Given the description of an element on the screen output the (x, y) to click on. 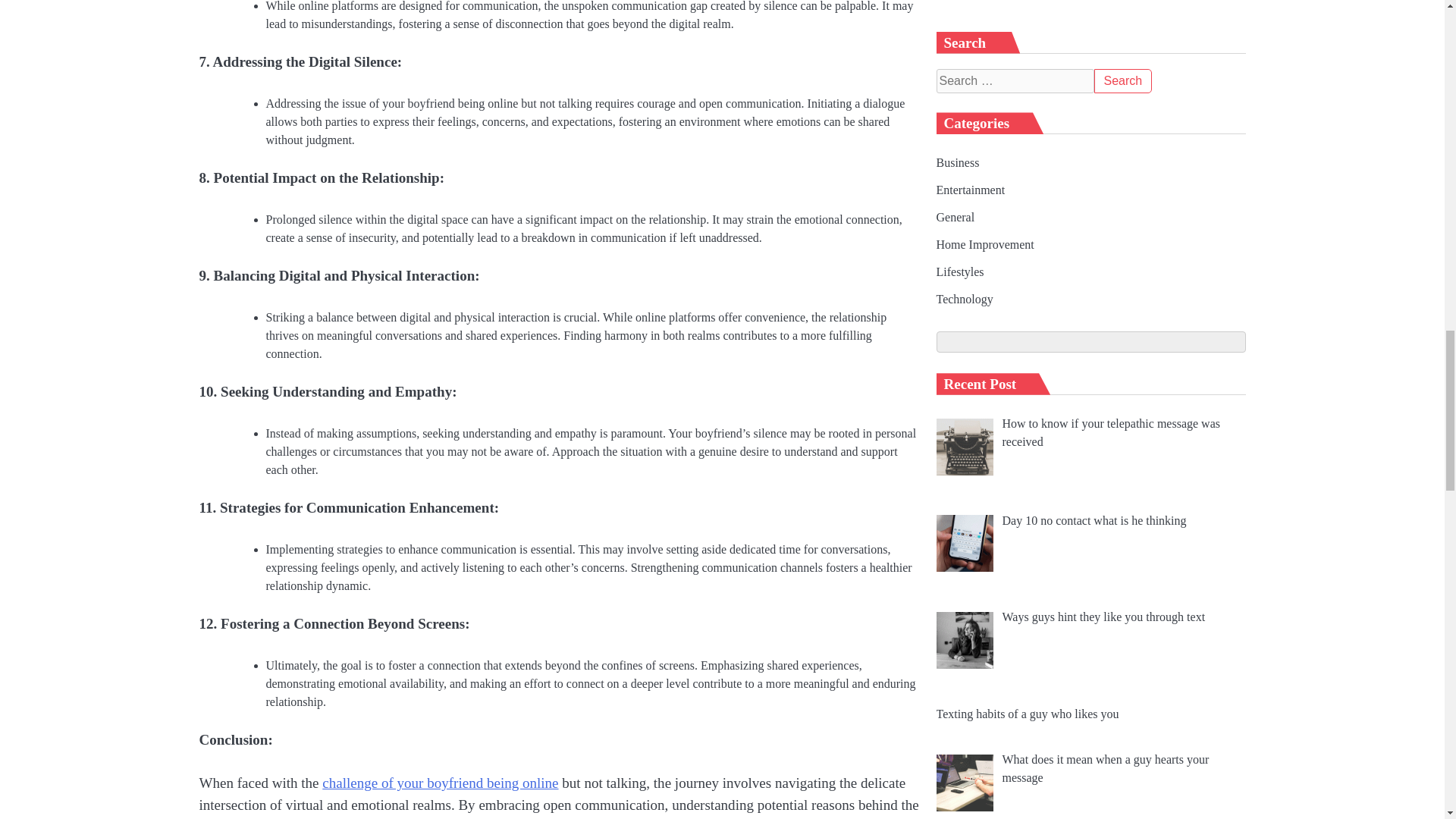
challenge of your boyfriend being online (439, 782)
